Given the description of an element on the screen output the (x, y) to click on. 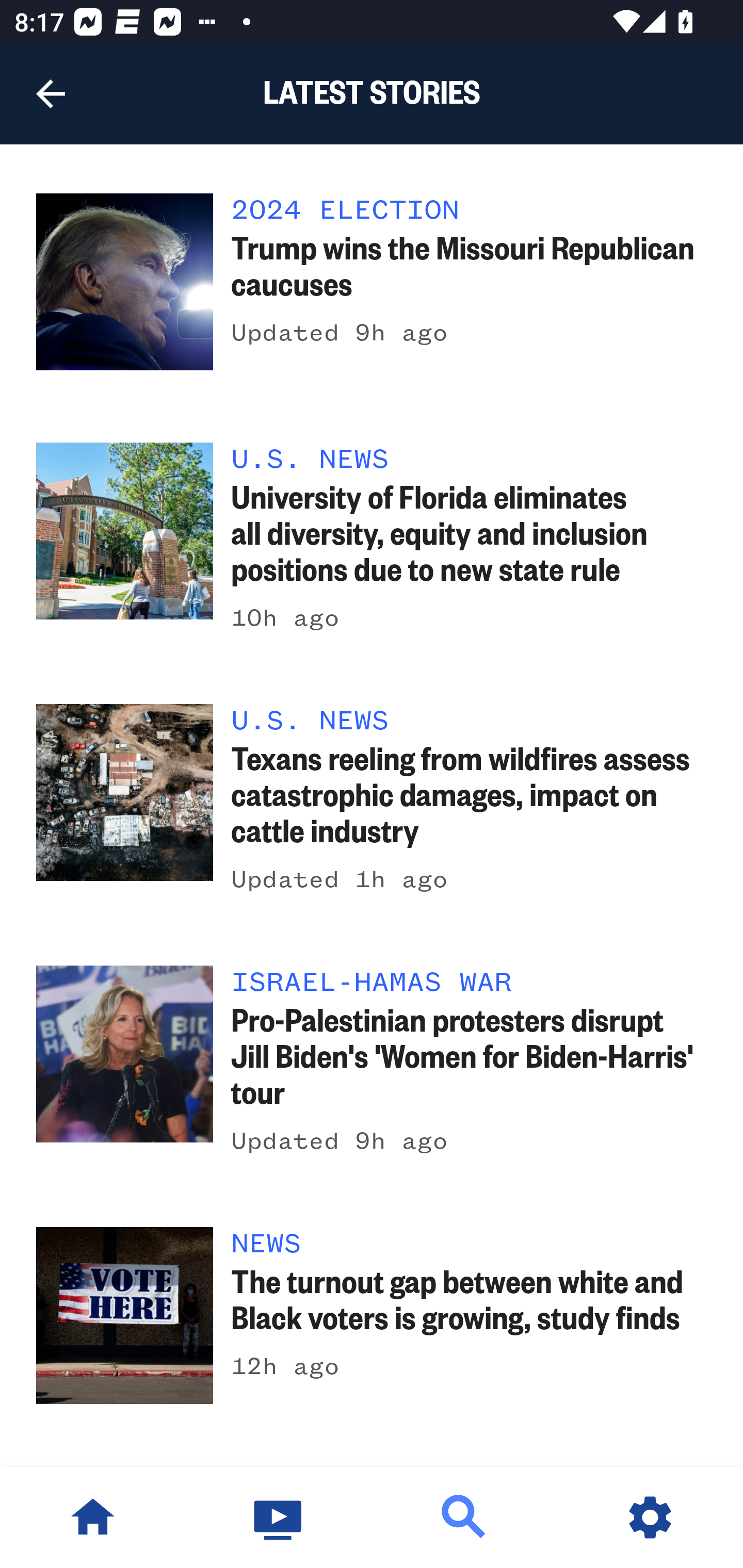
Navigate up (50, 93)
NBC News Home (92, 1517)
Watch (278, 1517)
Settings (650, 1517)
